Given the description of an element on the screen output the (x, y) to click on. 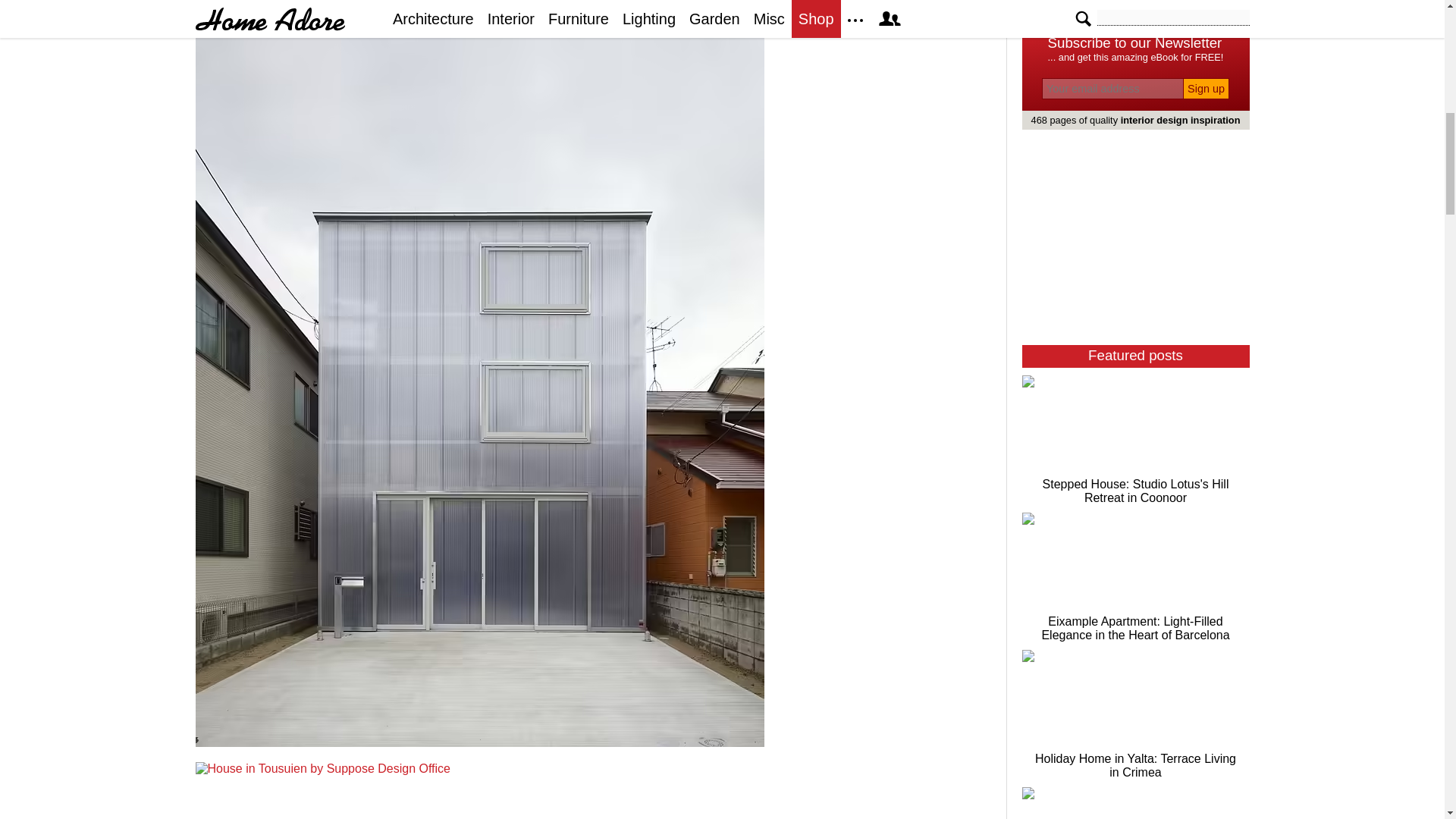
Sign up (1205, 88)
